Given the description of an element on the screen output the (x, y) to click on. 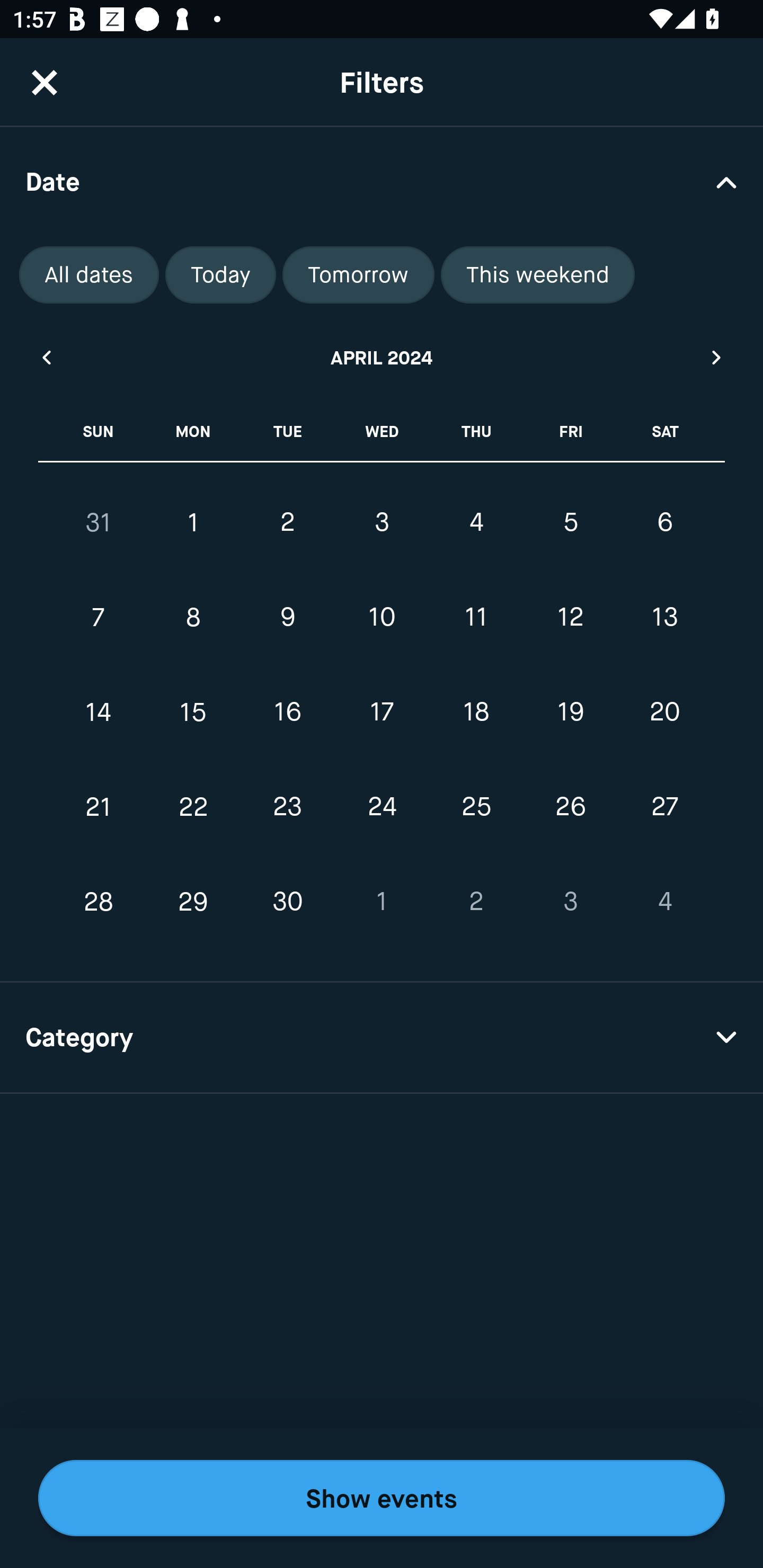
CloseButton (44, 82)
Date Drop Down Arrow (381, 181)
All dates (88, 274)
Today (220, 274)
Tomorrow (358, 274)
This weekend (537, 274)
Previous (45, 357)
Next (717, 357)
31 (98, 522)
1 (192, 522)
2 (287, 522)
3 (381, 522)
4 (475, 522)
5 (570, 522)
6 (664, 522)
7 (98, 617)
8 (192, 617)
9 (287, 617)
10 (381, 617)
11 (475, 617)
12 (570, 617)
13 (664, 617)
14 (98, 711)
15 (192, 711)
16 (287, 711)
17 (381, 711)
18 (475, 711)
19 (570, 711)
20 (664, 711)
21 (98, 806)
22 (192, 806)
23 (287, 806)
24 (381, 806)
25 (475, 806)
26 (570, 806)
27 (664, 806)
28 (98, 901)
29 (192, 901)
30 (287, 901)
1 (381, 901)
2 (475, 901)
3 (570, 901)
4 (664, 901)
Category Drop Down Arrow (381, 1038)
Show events (381, 1497)
